Given the description of an element on the screen output the (x, y) to click on. 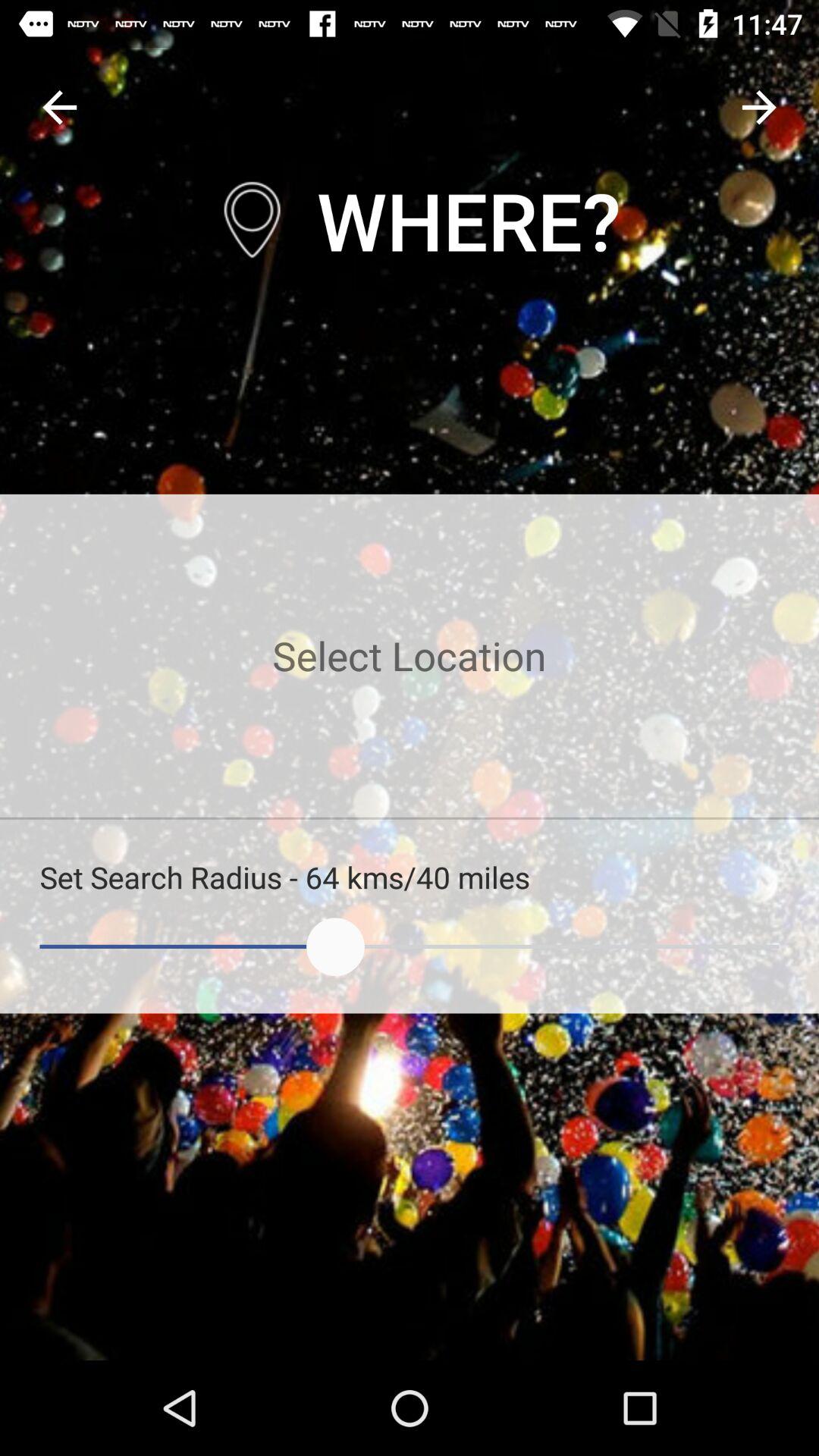
next page (759, 107)
